Given the description of an element on the screen output the (x, y) to click on. 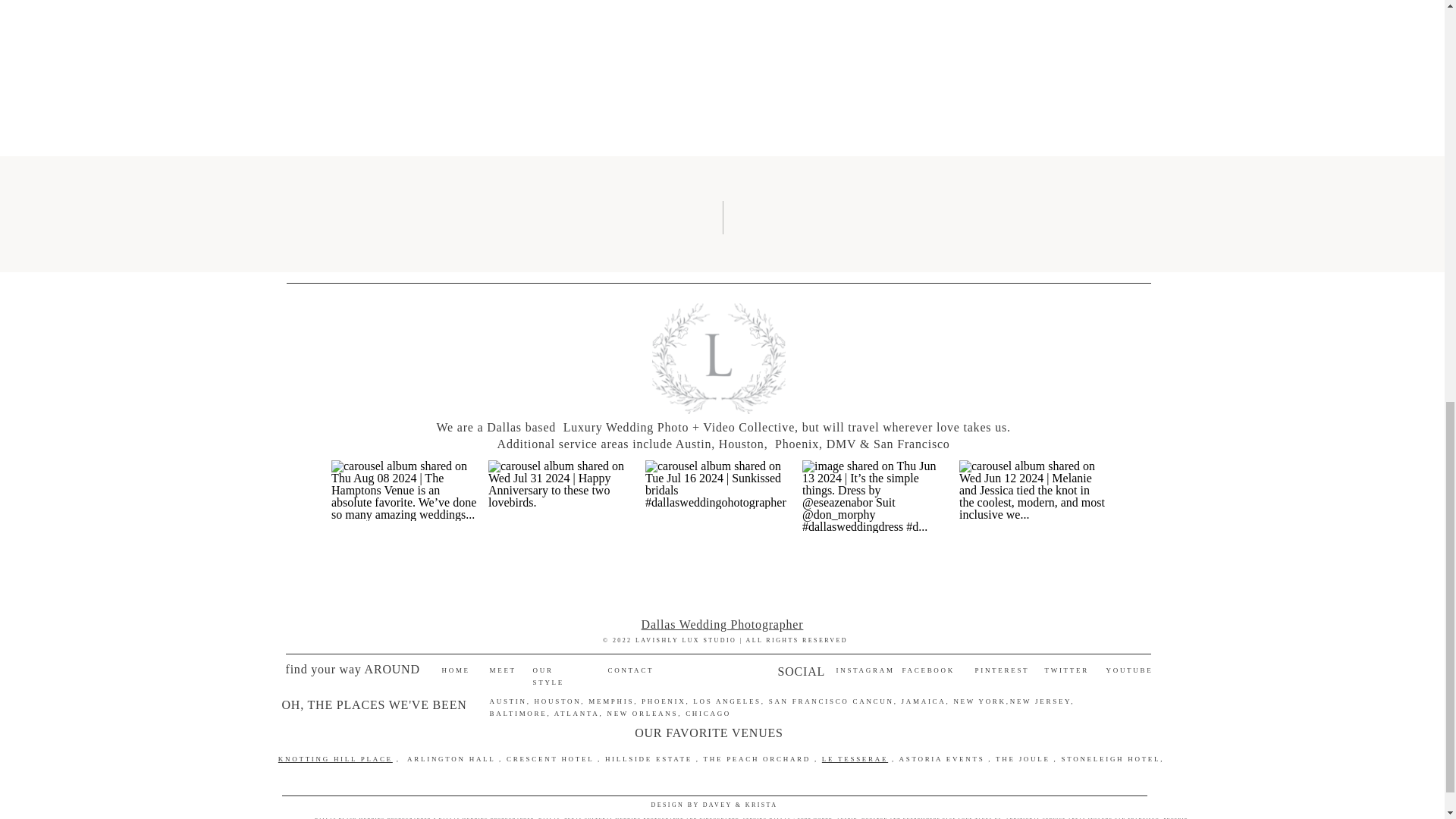
PINTEREST (1002, 670)
HOME (454, 670)
INSTAGRAM (863, 670)
MEET (500, 670)
TWITTER (1067, 670)
OUR STYLE (560, 670)
FACEBOOK (928, 670)
CONTACT (630, 670)
YOUTUBE (1127, 670)
